Given the description of an element on the screen output the (x, y) to click on. 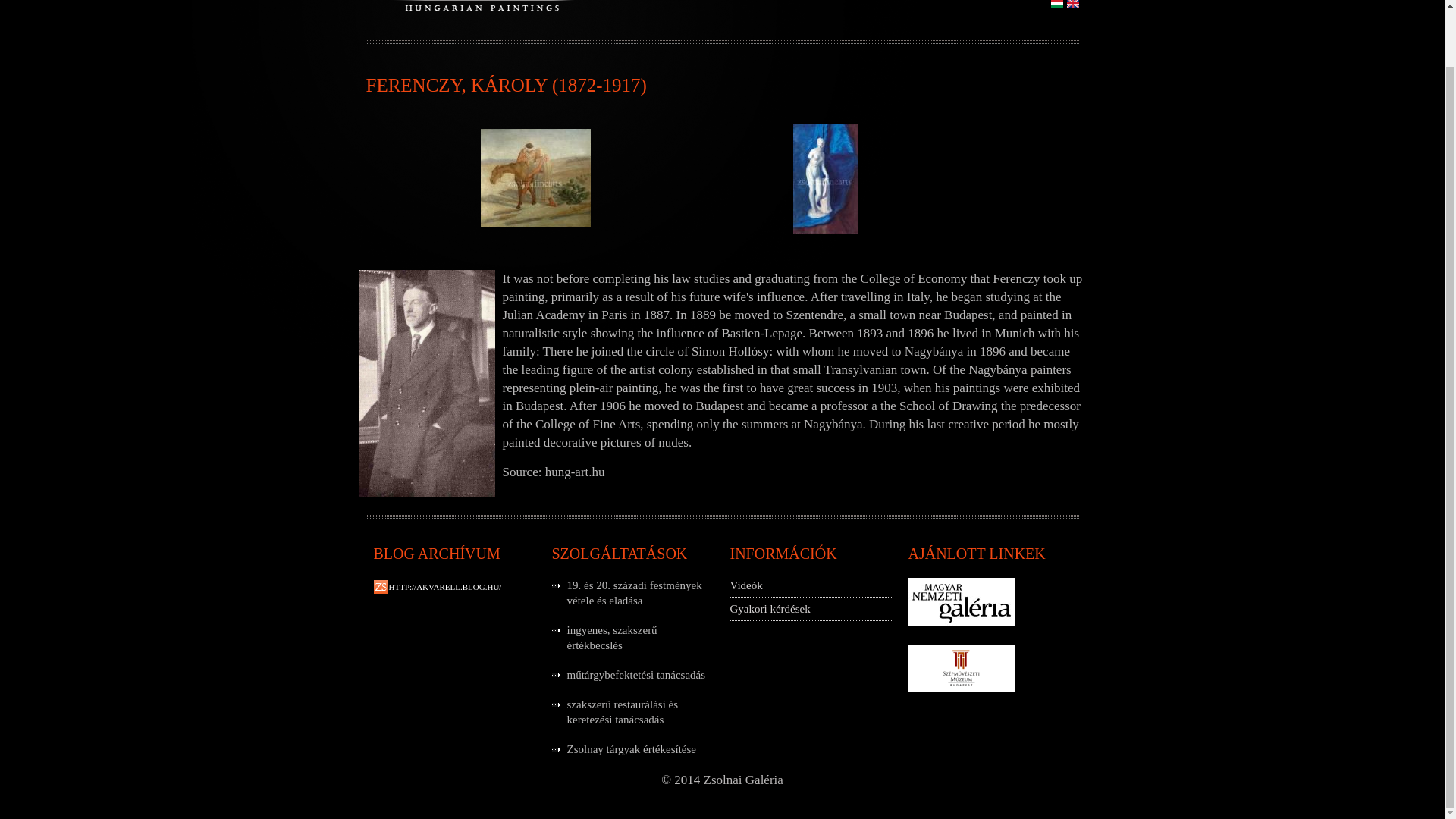
English (1071, 3)
Magyar (1056, 3)
